Given the description of an element on the screen output the (x, y) to click on. 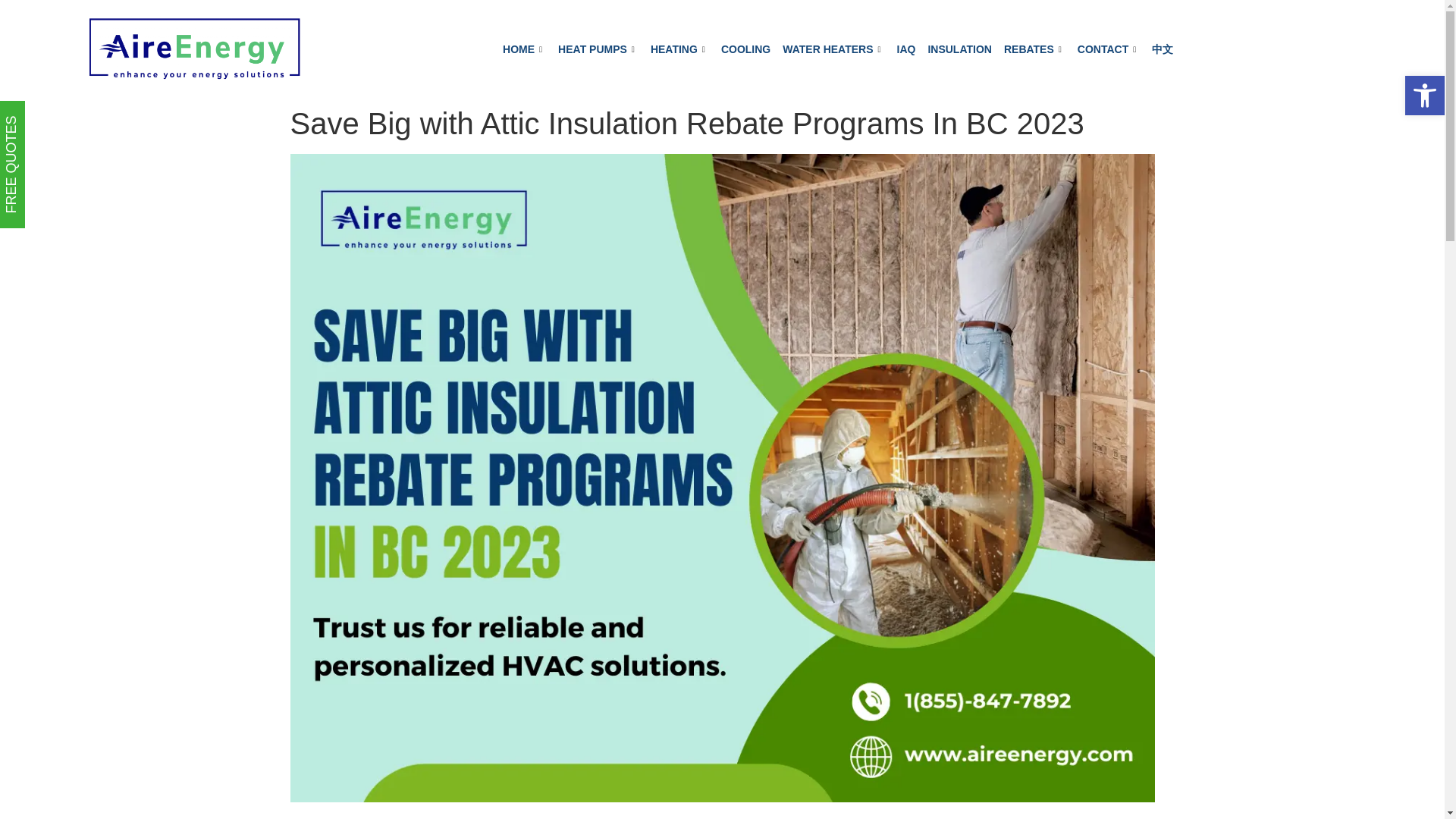
HEAT PUMPS (598, 49)
Accessibility Tools (1424, 95)
REBATES (1034, 49)
INSULATION (959, 49)
COOLING (745, 49)
WATER HEATERS (832, 49)
CONTACT (1108, 49)
HEATING (679, 49)
HOME (523, 49)
